Given the description of an element on the screen output the (x, y) to click on. 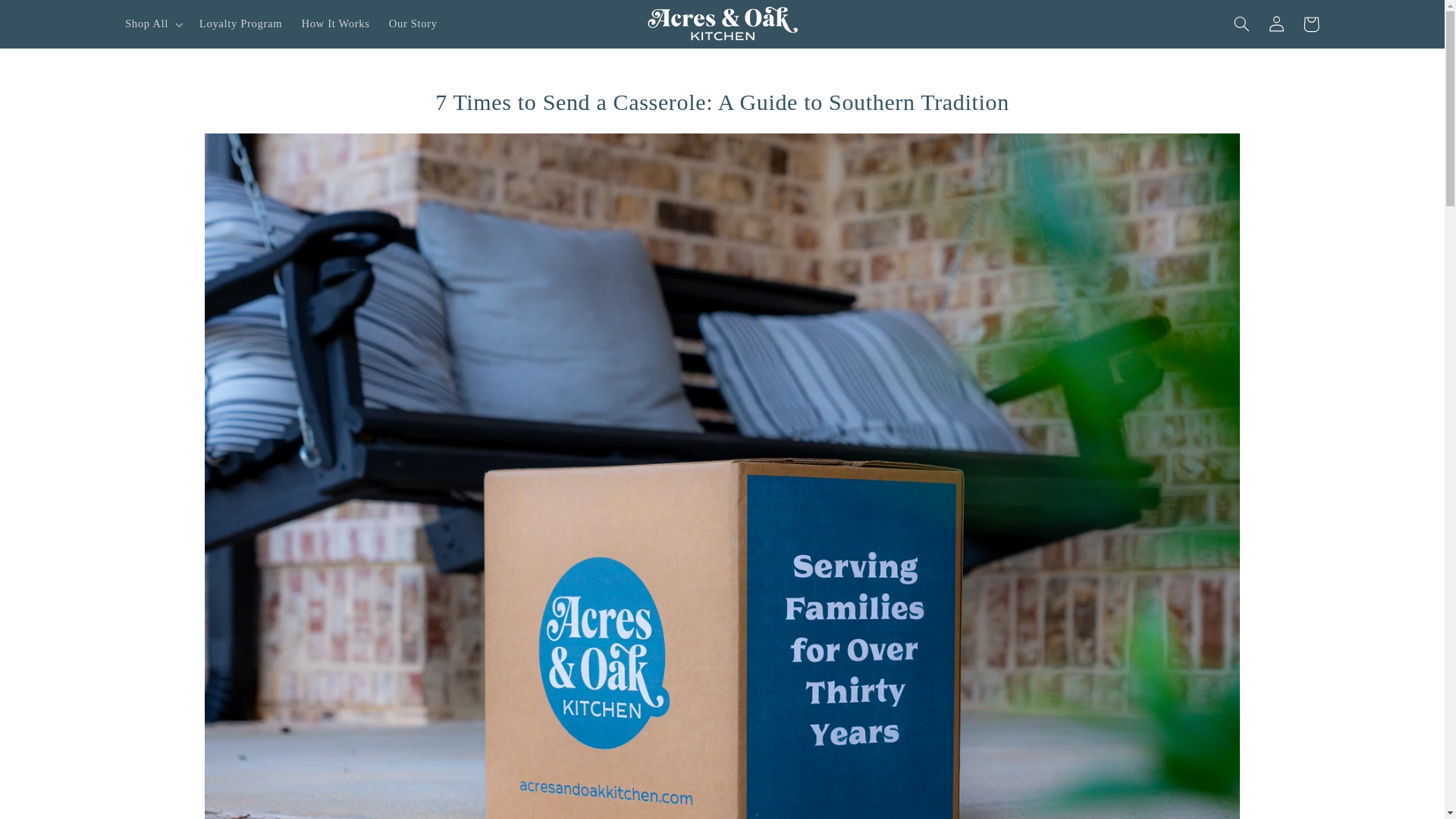
Loyalty Program (240, 23)
Cart (1310, 23)
Our Story (412, 23)
Log In (1276, 23)
How It Works (335, 23)
Skip to Content (47, 17)
7 Times to Send a Casserole: A Guide to Southern Tradition (721, 102)
